Given the description of an element on the screen output the (x, y) to click on. 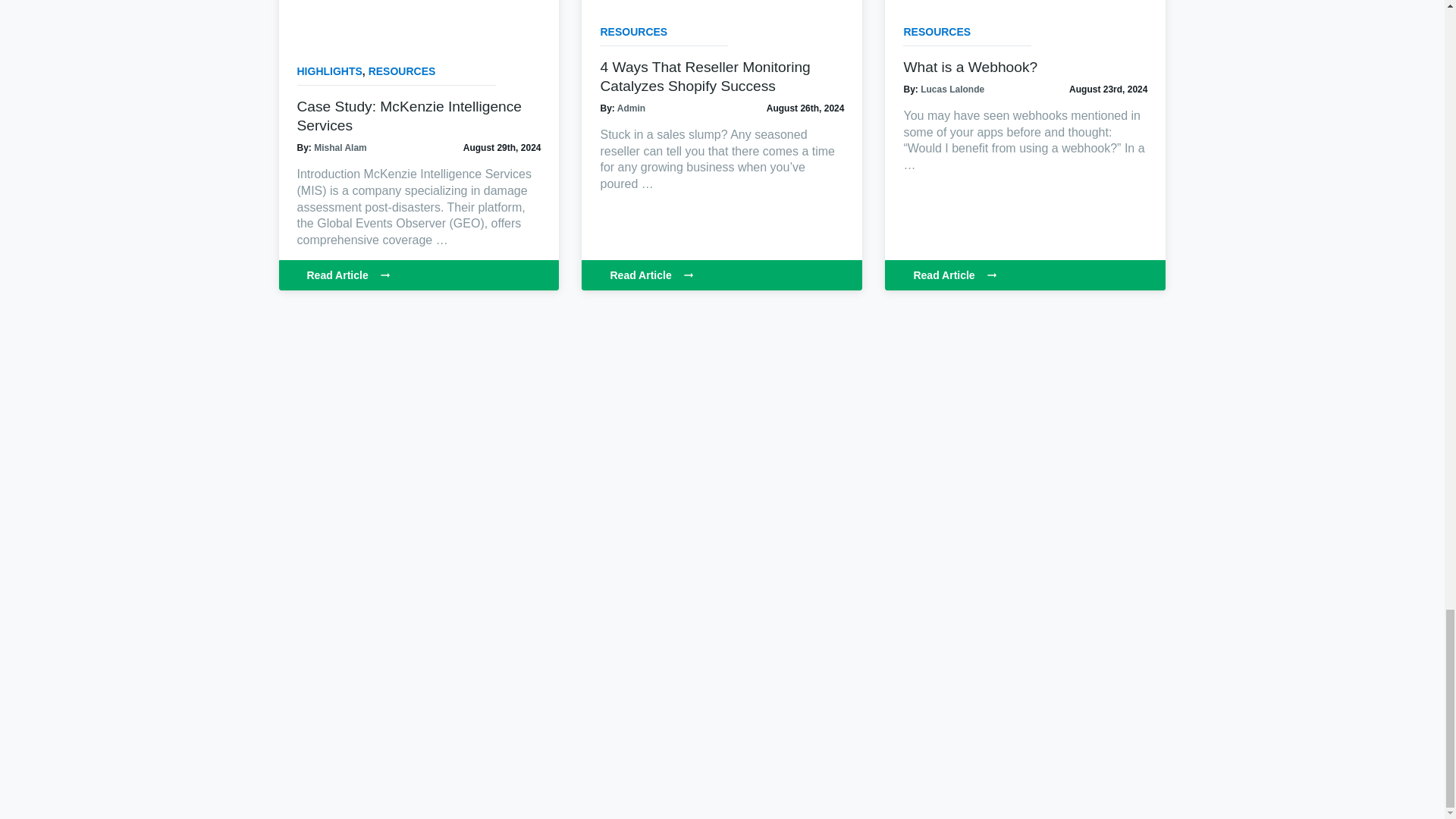
4 Ways That Reseller Monitoring Catalyzes Shopify Success (704, 76)
RESOURCES (401, 70)
Admin (631, 108)
Read Article (720, 275)
Lucas Lalonde (952, 89)
Read Article (419, 275)
RESOURCES (632, 31)
Posts by Mishal Alam (340, 147)
Mishal Alam (340, 147)
Posts by Lucas Lalonde (952, 89)
